Given the description of an element on the screen output the (x, y) to click on. 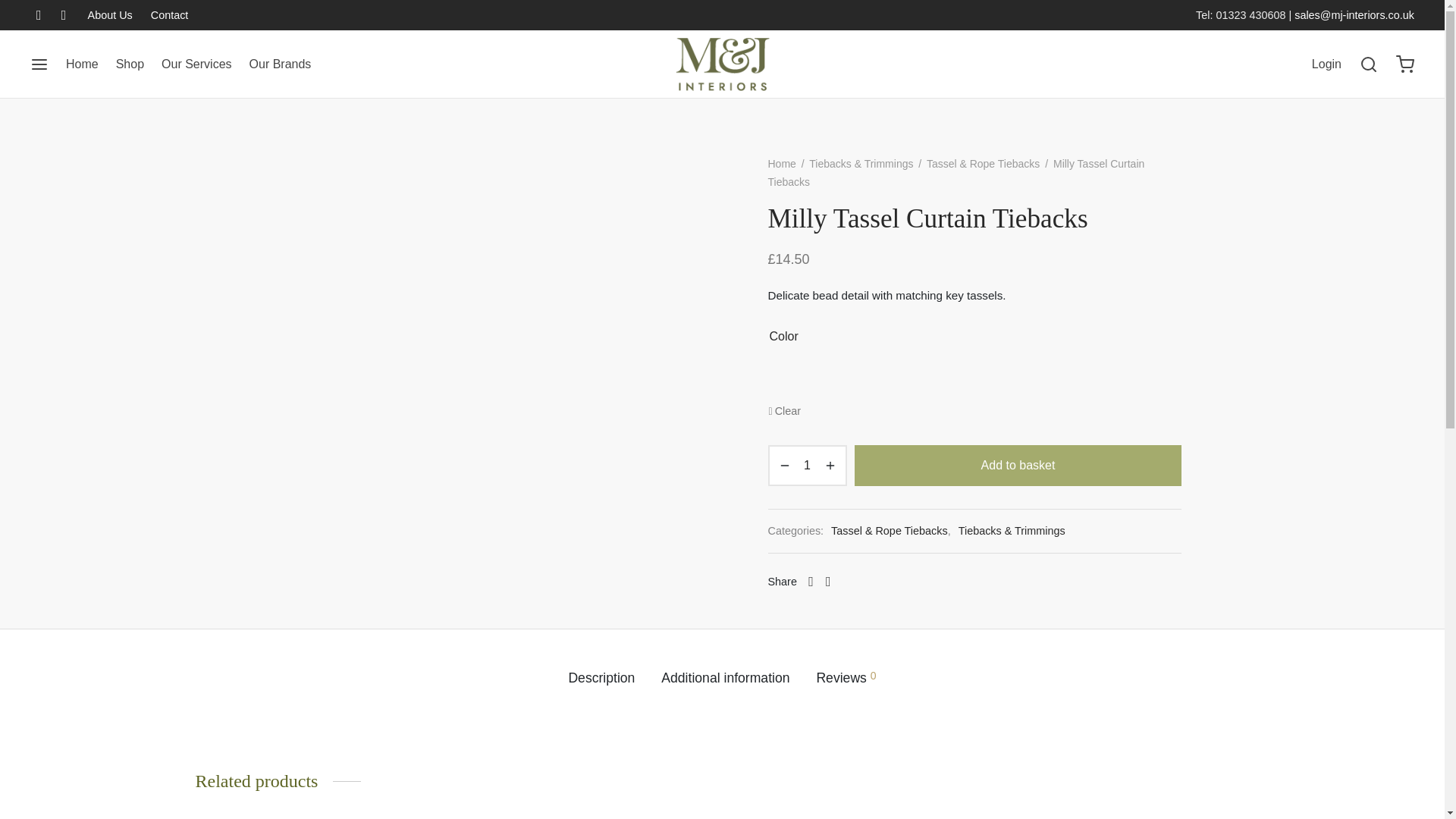
Contact (165, 14)
Cream (876, 378)
Purple (1007, 378)
Home (82, 64)
Wine (1096, 378)
Gold (920, 378)
Black (831, 378)
Shop (130, 64)
About Us (113, 14)
Beige (787, 378)
